Given the description of an element on the screen output the (x, y) to click on. 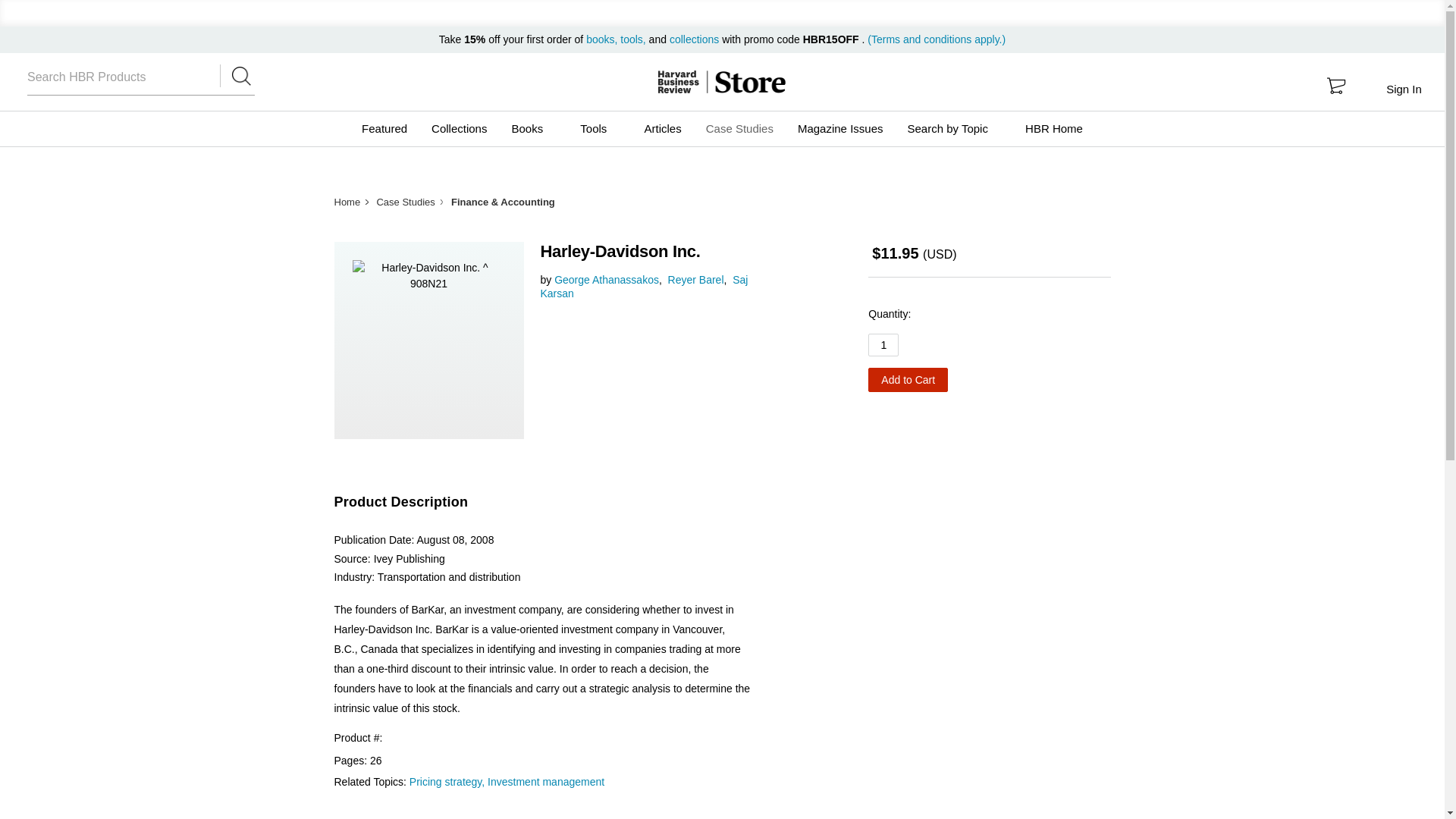
HBR.ORG - Prod (678, 81)
Books (533, 128)
Add to Cart (907, 379)
Sign In (1403, 88)
tools, (632, 39)
books, (603, 39)
Tools (599, 128)
Collections (459, 128)
collections (694, 39)
1 (882, 344)
